Given the description of an element on the screen output the (x, y) to click on. 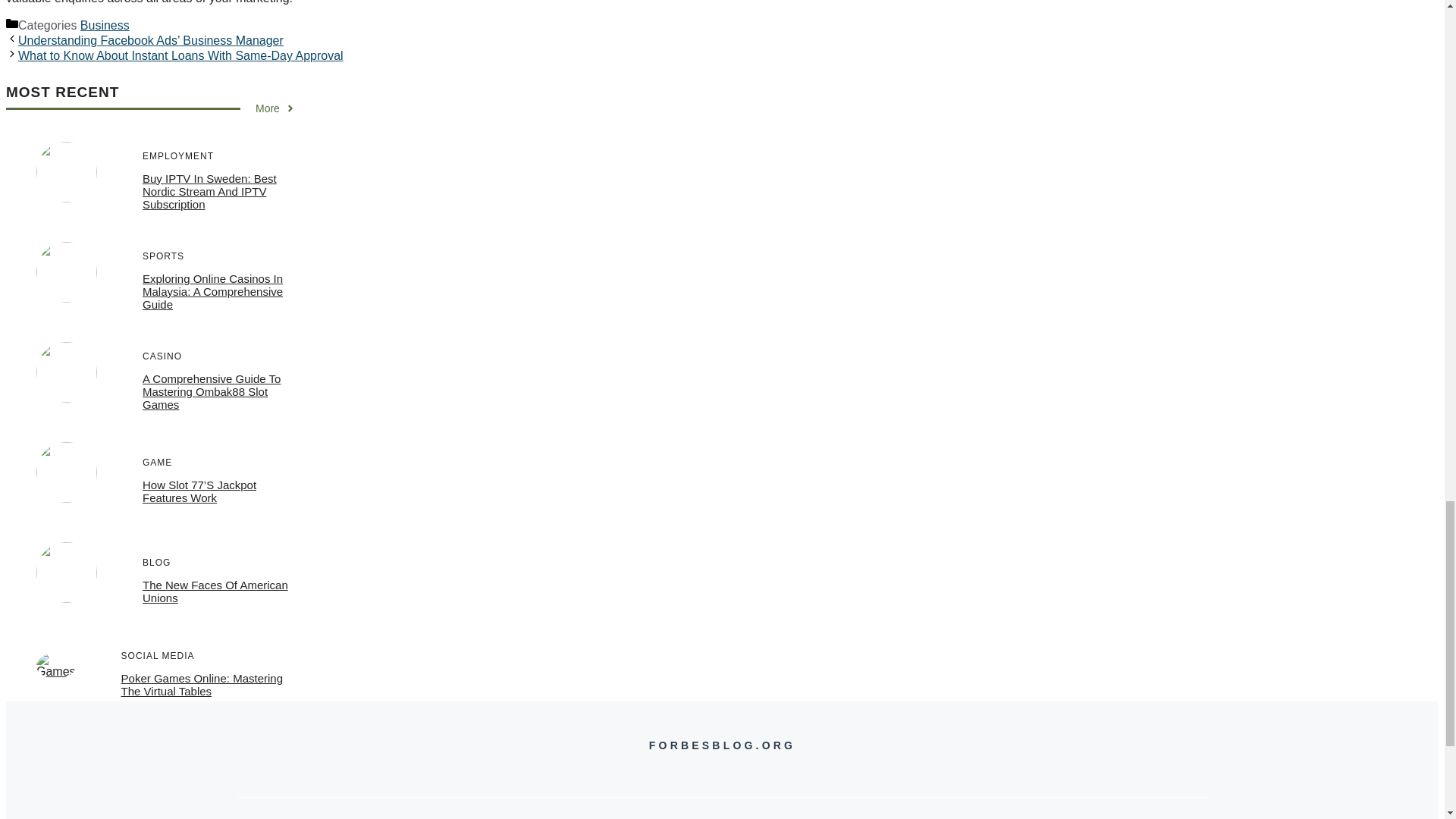
Business (104, 24)
More (275, 108)
What to Know About Instant Loans With Same-Day Approval (180, 55)
A Comprehensive Guide To Mastering Ombak88 Slot Games (211, 391)
Exploring Online Casinos In Malaysia: A Comprehensive Guide (212, 291)
Poker Games Online: Mastering The Virtual Tables (201, 684)
Buy IPTV In Sweden: Best Nordic Stream And IPTV Subscription (209, 190)
The New Faces Of American Unions (215, 591)
